Given the description of an element on the screen output the (x, y) to click on. 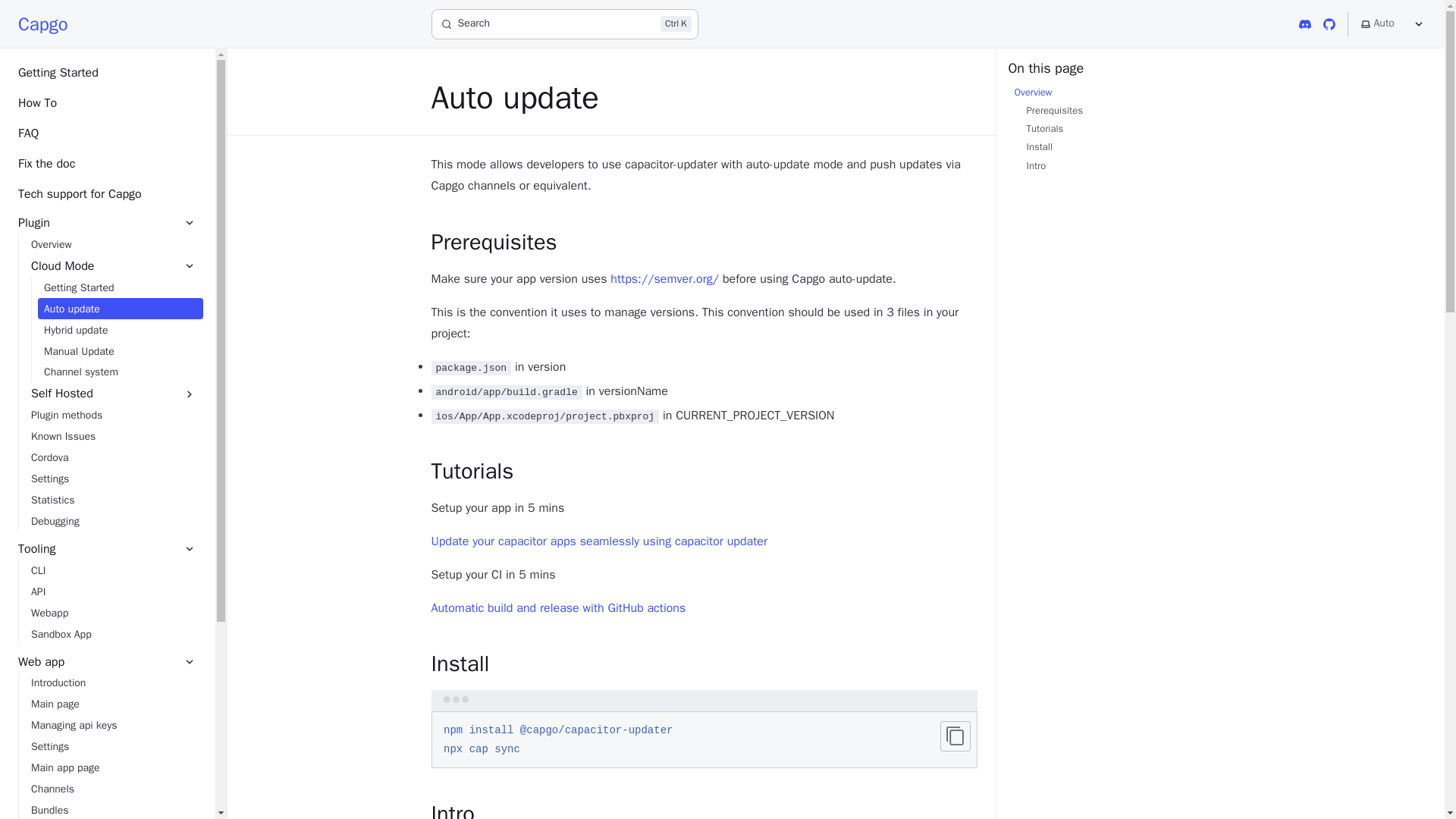
Debugging (113, 521)
How To (107, 102)
Sandbox App (113, 634)
Settings (113, 478)
Copy to clipboard (955, 736)
API (113, 591)
Overview (113, 244)
Hybrid update (120, 329)
Cordova (113, 457)
Plugin methods (113, 414)
Skip to content (48, 19)
GitHub (1328, 24)
Capgo (42, 23)
Getting Started (107, 72)
FAQ (107, 133)
